Given the description of an element on the screen output the (x, y) to click on. 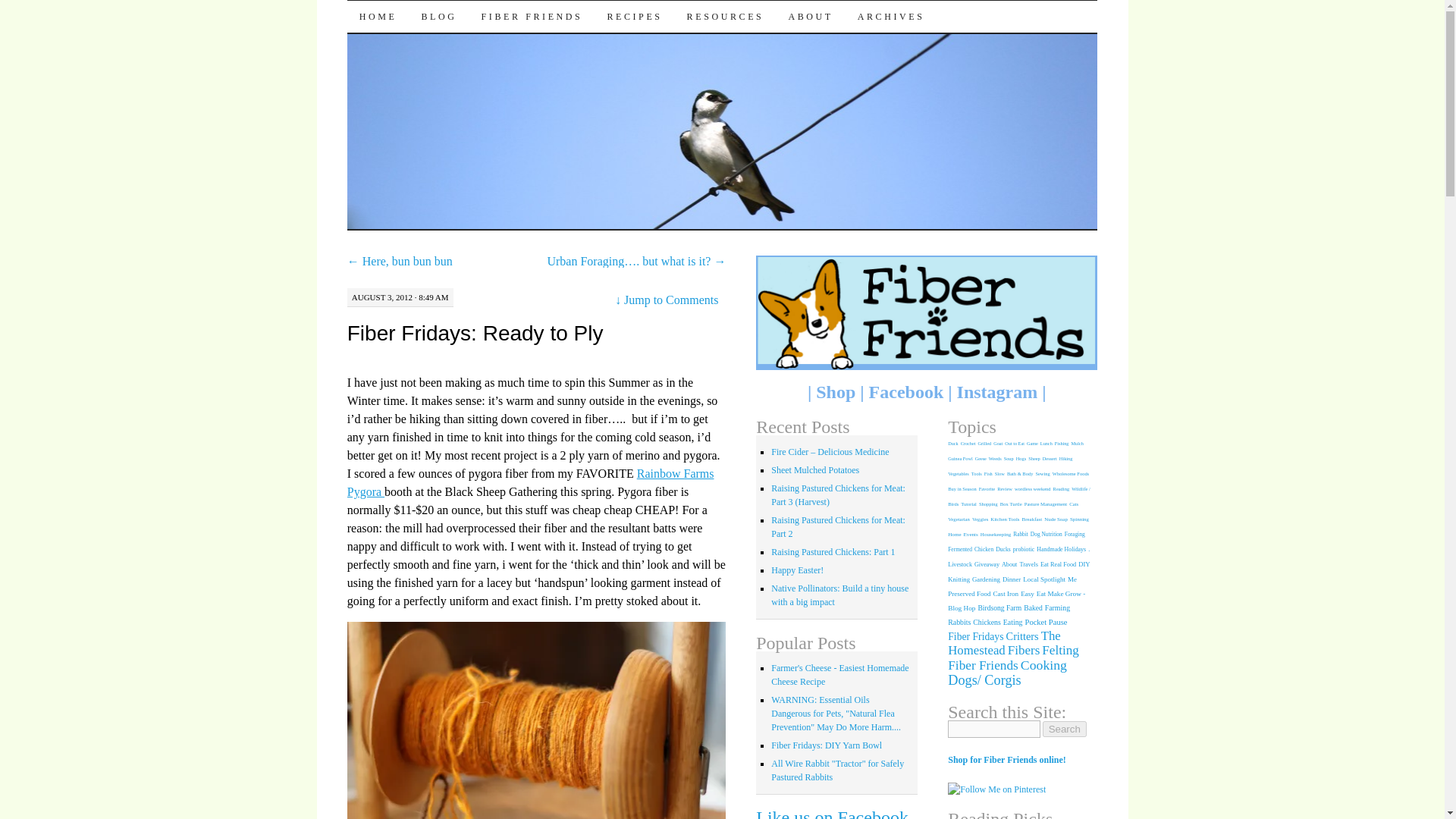
ARCHIVES (891, 16)
BLOG (438, 16)
HOME (378, 16)
ABOUT (810, 16)
RECIPES (634, 16)
Pocket Pause (432, 26)
FIBER FRIENDS (531, 16)
RESOURCES (725, 16)
Skip to content (439, 16)
SKIP TO CONTENT (439, 16)
